Given the description of an element on the screen output the (x, y) to click on. 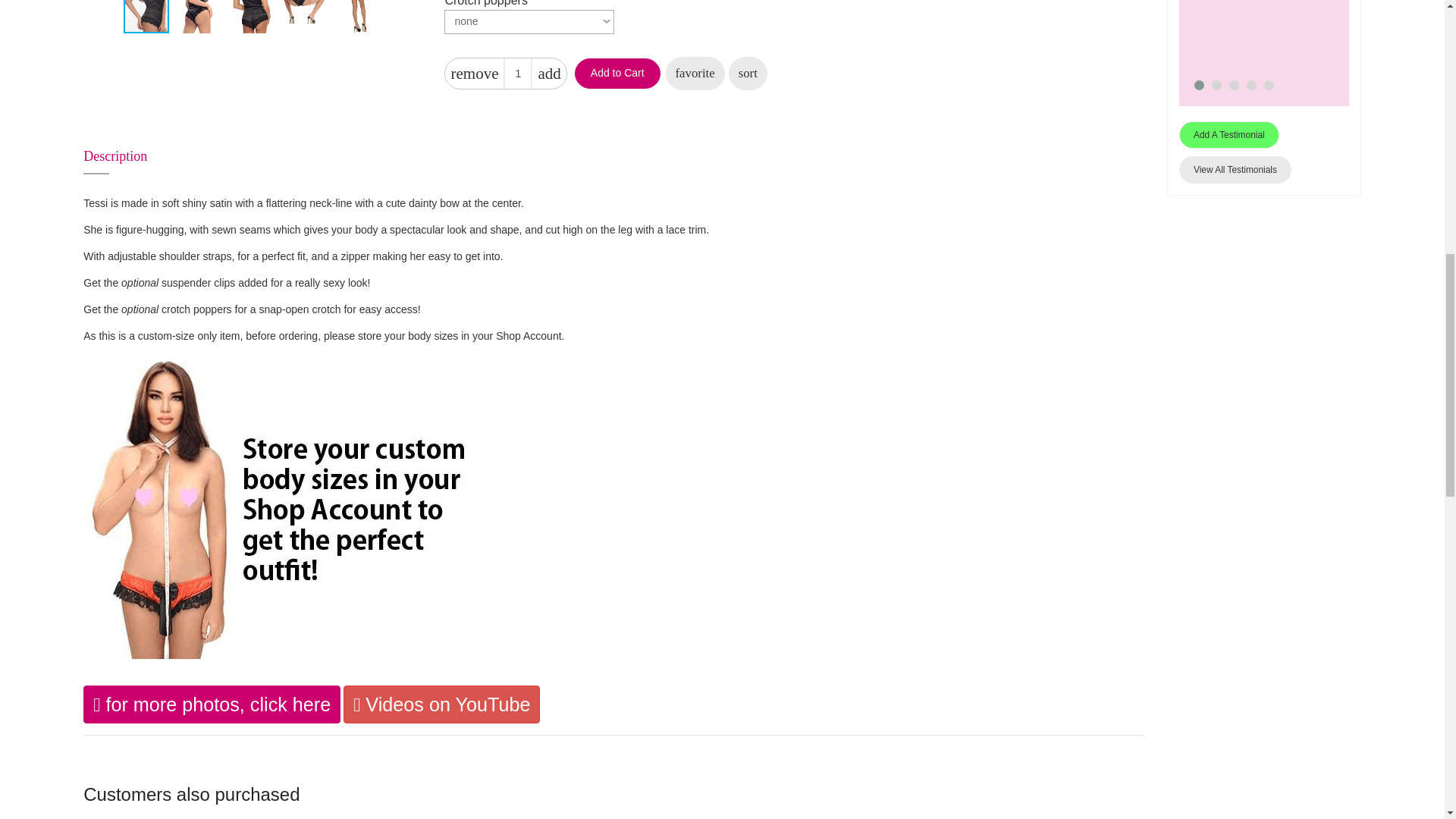
1 (517, 73)
Add to Compare (748, 73)
Add to Wishlist (695, 73)
